Given the description of an element on the screen output the (x, y) to click on. 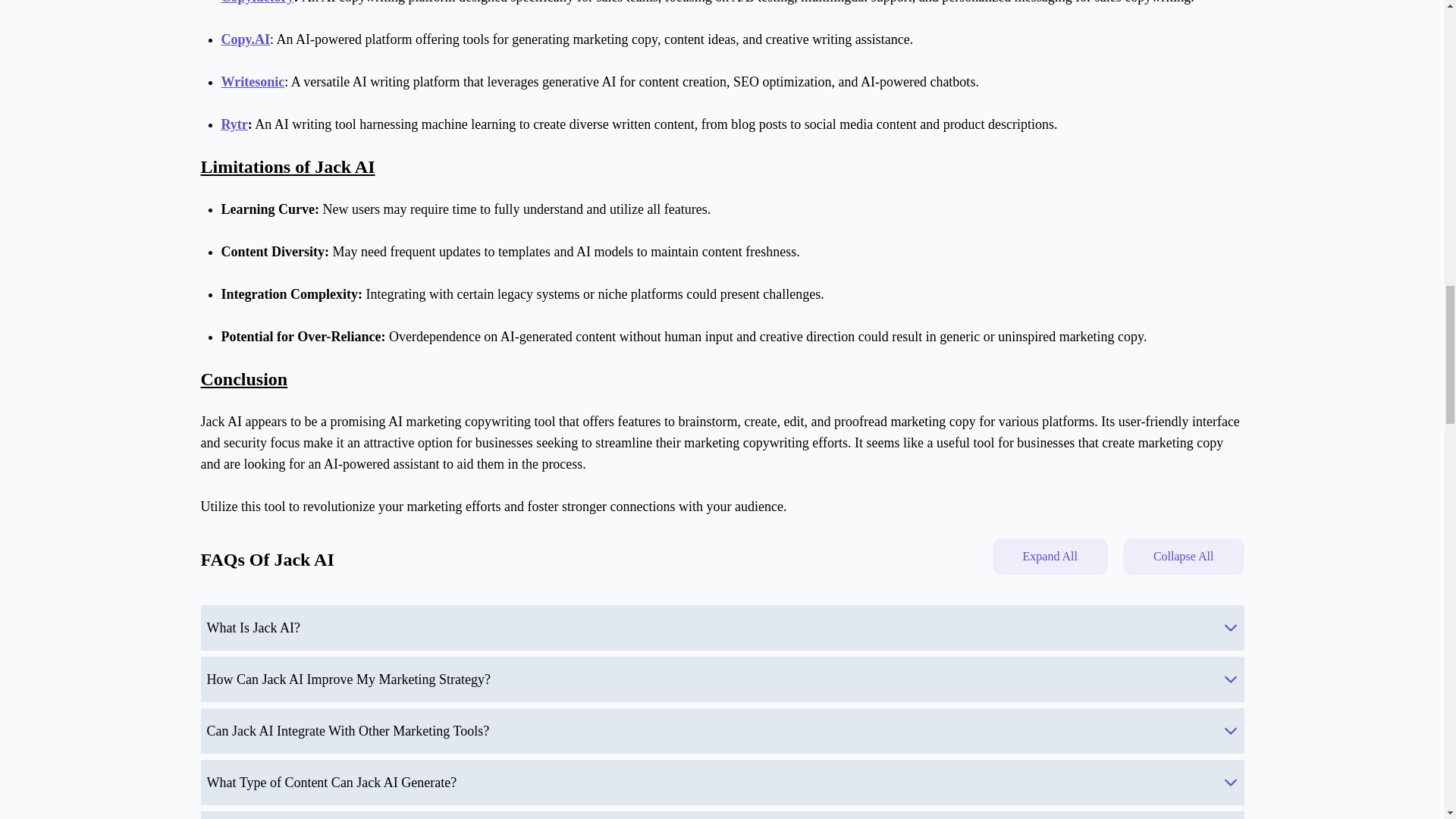
Copyfactory (257, 2)
Collapse All (1183, 556)
Expand All (1048, 556)
Writesonic (253, 81)
Rytr (234, 124)
Copy.AI (245, 38)
